Given the description of an element on the screen output the (x, y) to click on. 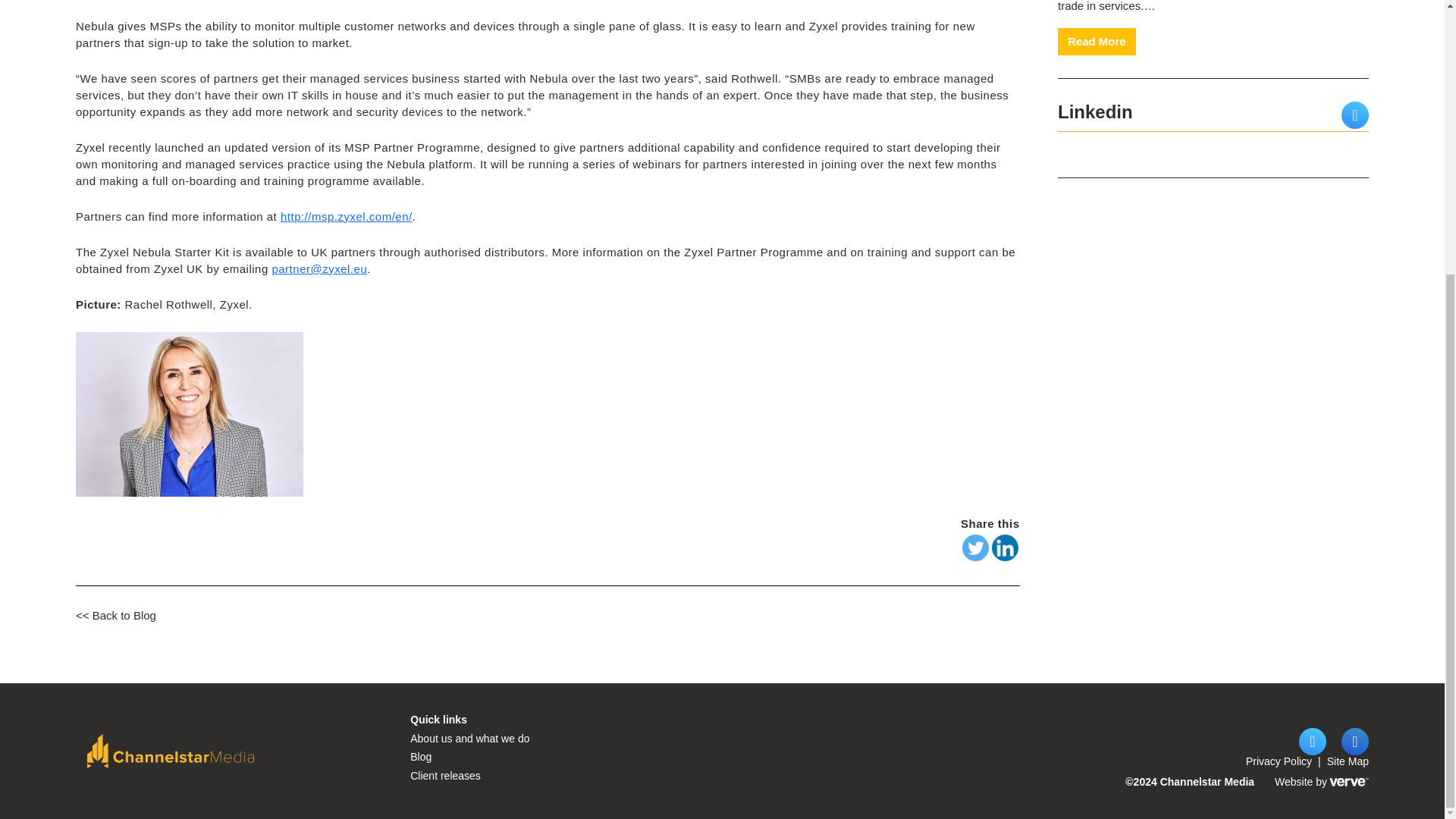
Linkedin (1004, 547)
Blog (420, 756)
Read More (1096, 41)
Client releases (445, 775)
Site Map (1347, 761)
About us and what we do (1320, 781)
Privacy Policy (469, 738)
Twitter (1278, 761)
